Given the description of an element on the screen output the (x, y) to click on. 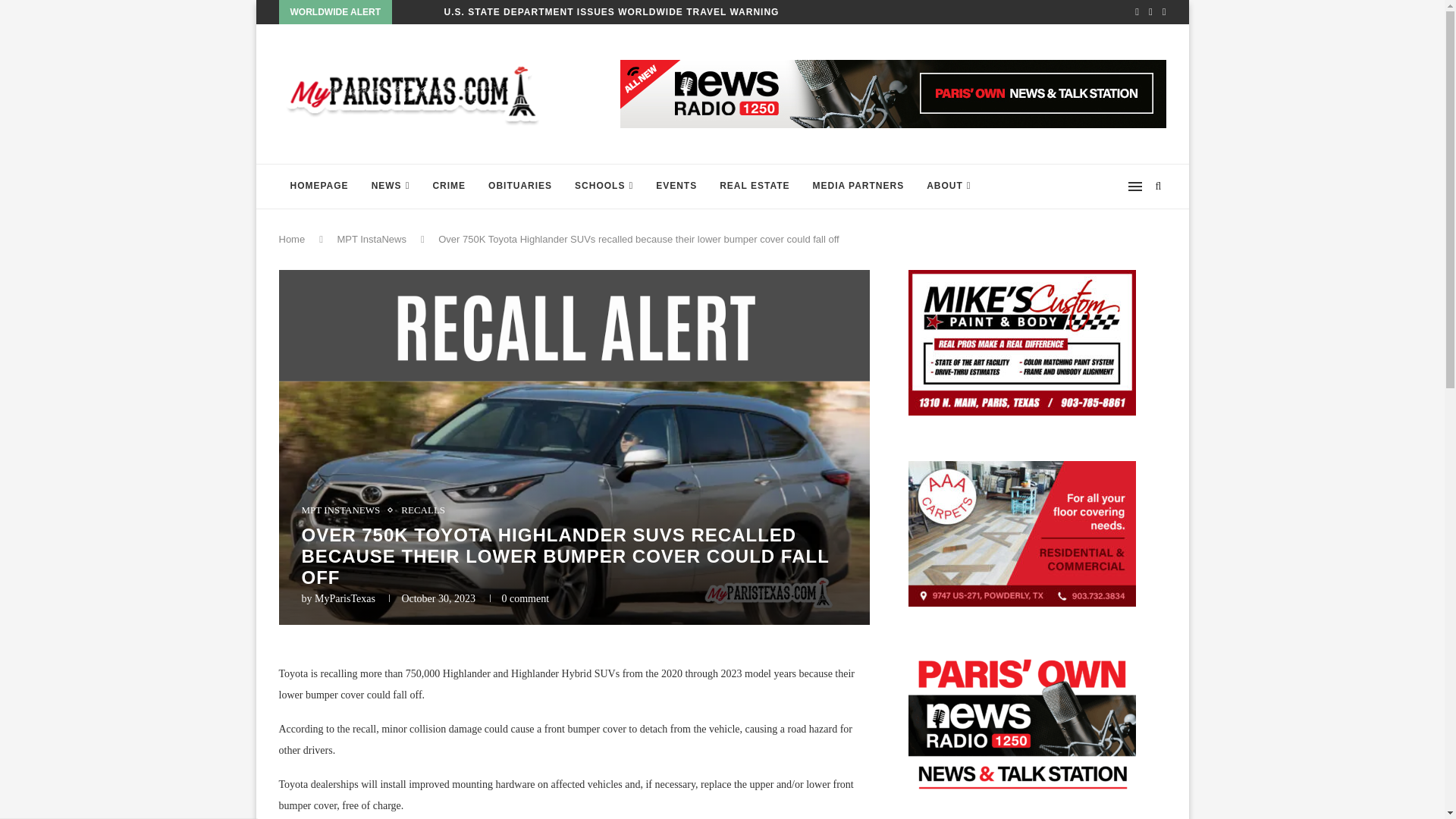
NEWS (390, 186)
U.S. STATE DEPARTMENT ISSUES WORLDWIDE TRAVEL WARNING (611, 12)
HOMEPAGE (319, 186)
